Given the description of an element on the screen output the (x, y) to click on. 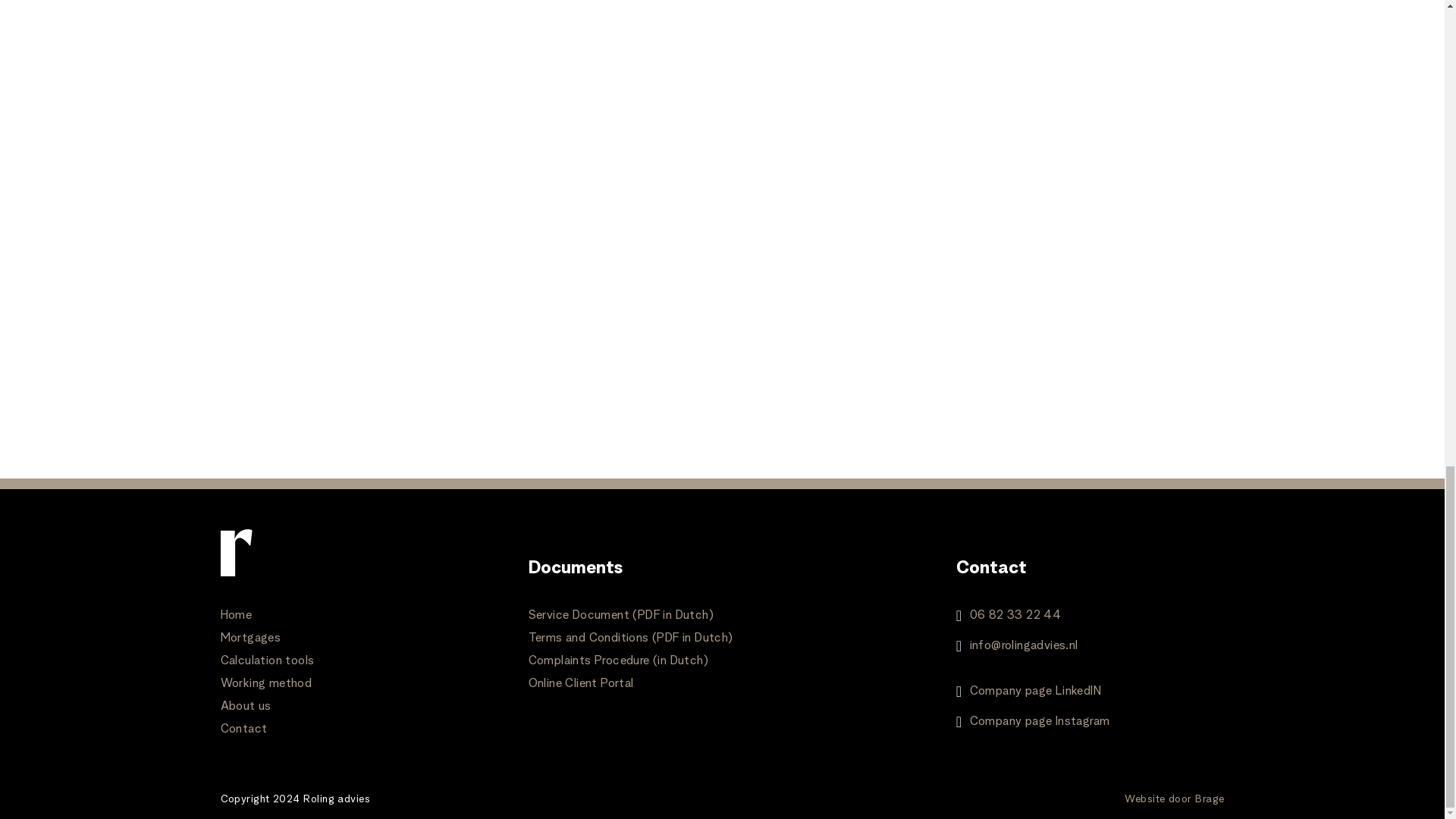
Online Client Portal (580, 684)
Roling advies (335, 798)
Website door Brage (1174, 798)
Home (235, 615)
Mortgages (250, 638)
Contact (242, 729)
About us (244, 706)
Working method (265, 684)
Company page LinkedIN (1034, 691)
06 82 33 22 44 (1015, 615)
Company page Instagram (1039, 721)
Calculation tools (266, 661)
